Given the description of an element on the screen output the (x, y) to click on. 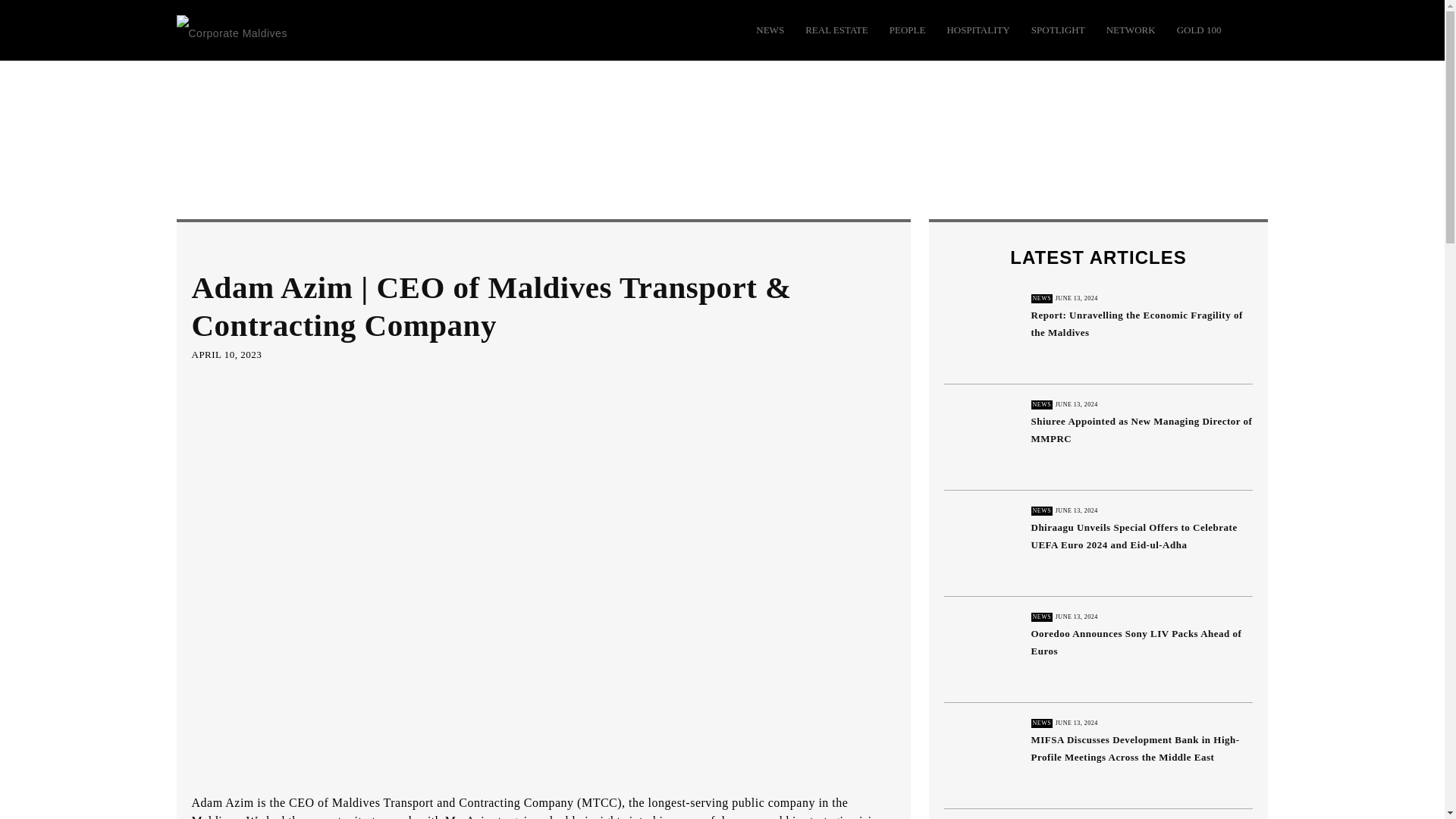
HOSPITALITY (977, 30)
NETWORK (1131, 30)
Ooredoo Announces Sony LIV Packs Ahead of Euros (981, 649)
PEOPLE (907, 30)
Ooredoo Announces Sony LIV Packs Ahead of Euros (1135, 642)
GOLD 100 (1198, 30)
Shiuree Appointed as New Managing Director of MMPRC (1141, 429)
REAL ESTATE (836, 30)
